Given the description of an element on the screen output the (x, y) to click on. 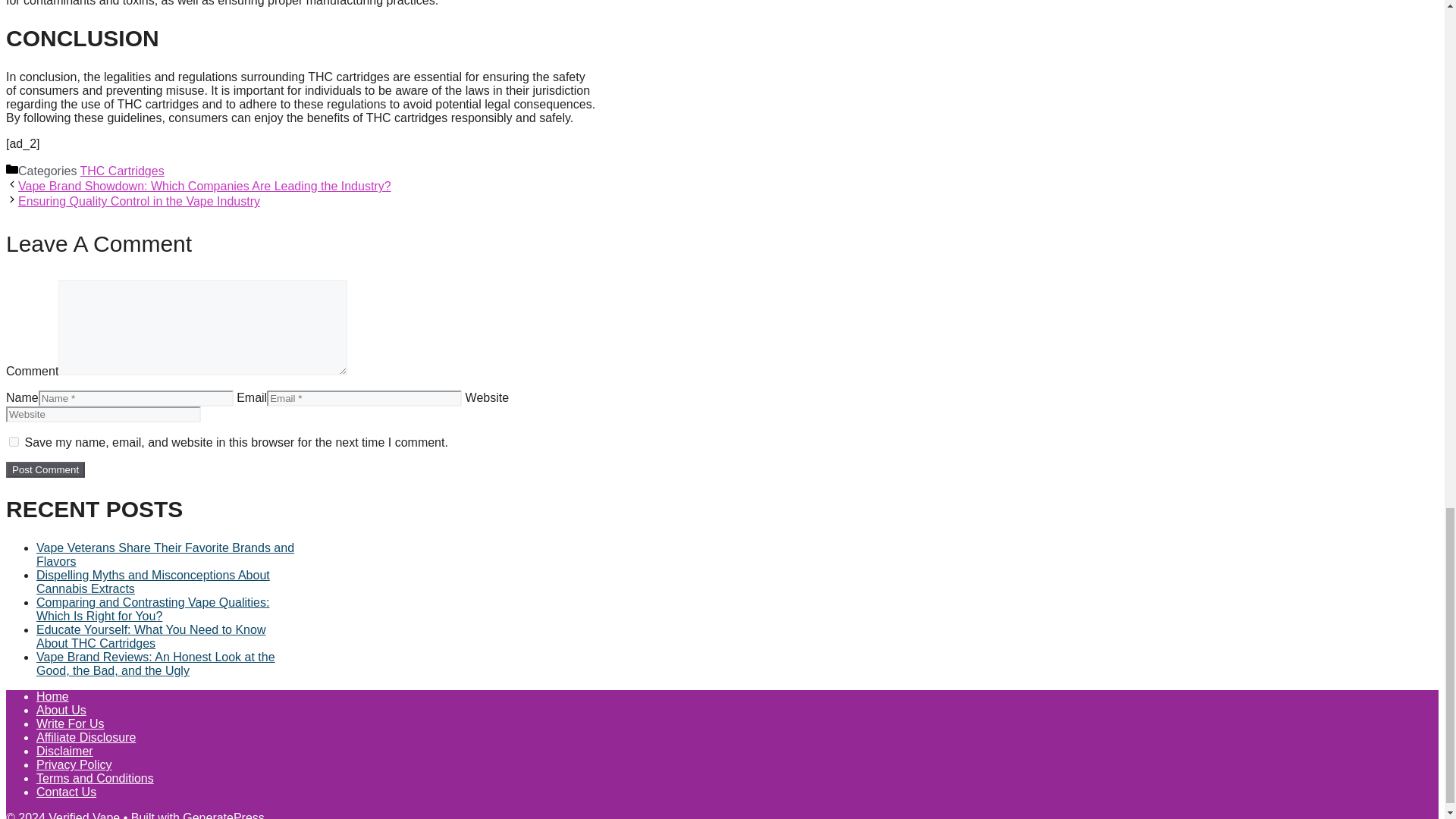
Terms and Conditions (95, 778)
Write For Us (69, 723)
THC Cartridges (122, 170)
Home (52, 696)
Post Comment (44, 469)
yes (13, 441)
Educate Yourself: What You Need to Know About THC Cartridges (150, 636)
Dispelling Myths and Misconceptions About Cannabis Extracts (152, 581)
Vape Veterans Share Their Favorite Brands and Flavors (165, 554)
Disclaimer (64, 750)
Privacy Policy (74, 764)
About Us (60, 709)
Ensuring Quality Control in the Vape Industry (138, 201)
